Given the description of an element on the screen output the (x, y) to click on. 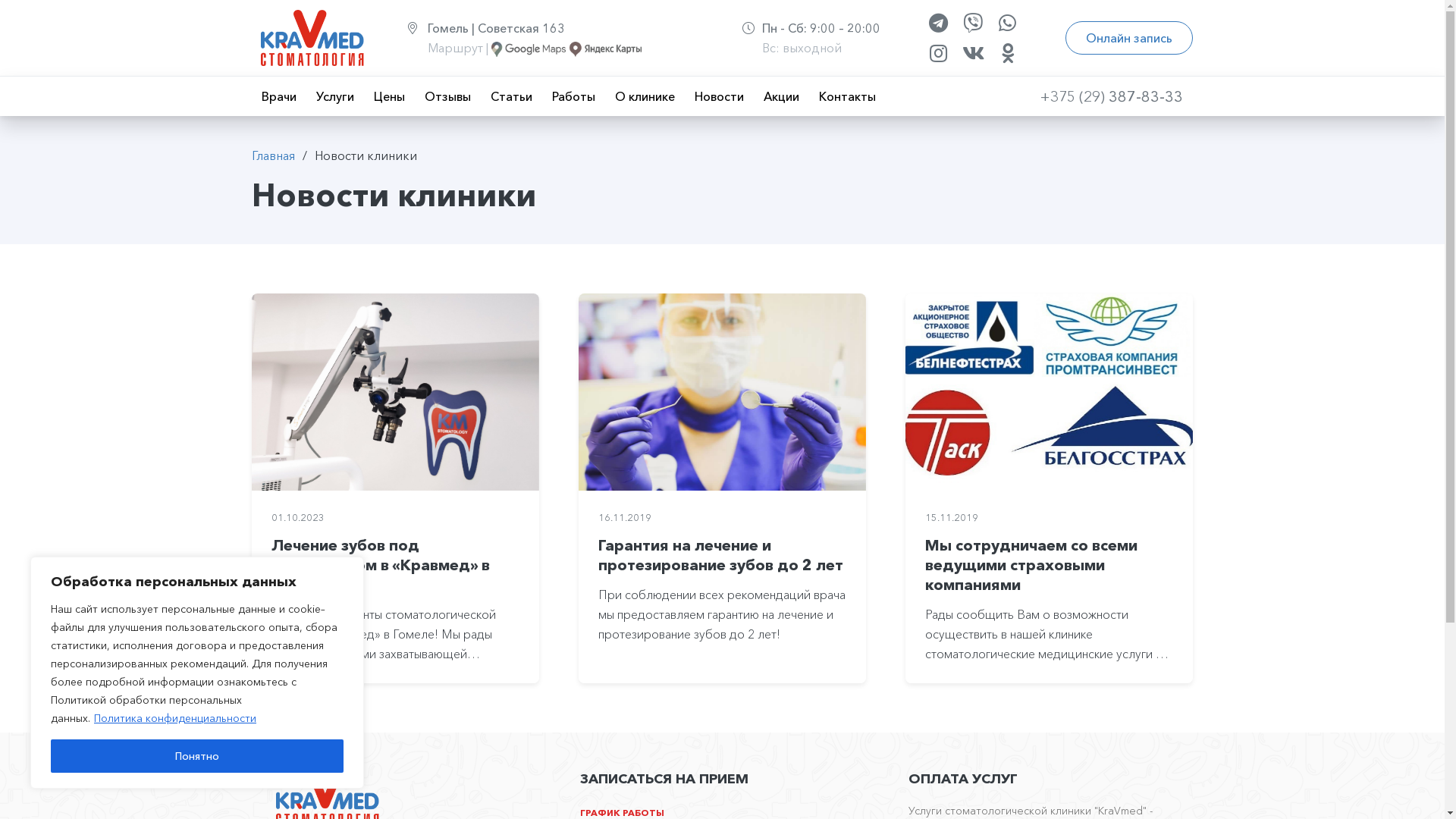
+375 (29) 387-83-33 Element type: text (1110, 96)
